Given the description of an element on the screen output the (x, y) to click on. 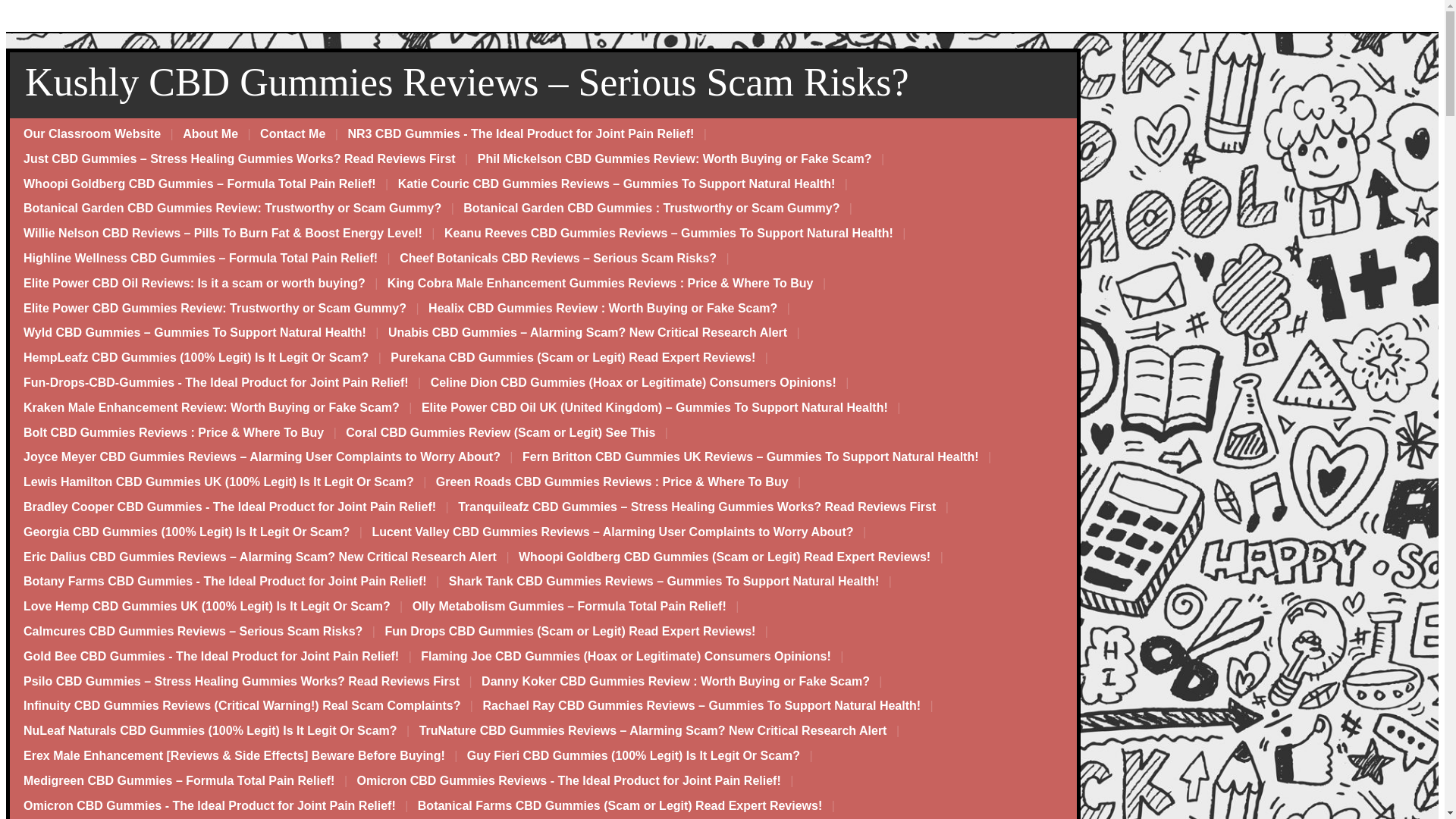
Advertisement (721, 18)
Kraken Male Enhancement Review: Worth Buying or Fake Scam? (211, 407)
Contact Me (292, 134)
Botanical Garden CBD Gummies : Trustworthy or Scam Gummy? (651, 208)
Our Classroom Website (92, 134)
About Me (210, 134)
Elite Power CBD Gummies Review: Trustworthy or Scam Gummy? (214, 308)
NR3 CBD Gummies - The Ideal Product for Joint Pain Relief! (520, 134)
Elite Power CBD Oil Reviews: Is it a scam or worth buying? (194, 283)
Healix CBD Gummies Review : Worth Buying or Fake Scam? (602, 308)
